Given the description of an element on the screen output the (x, y) to click on. 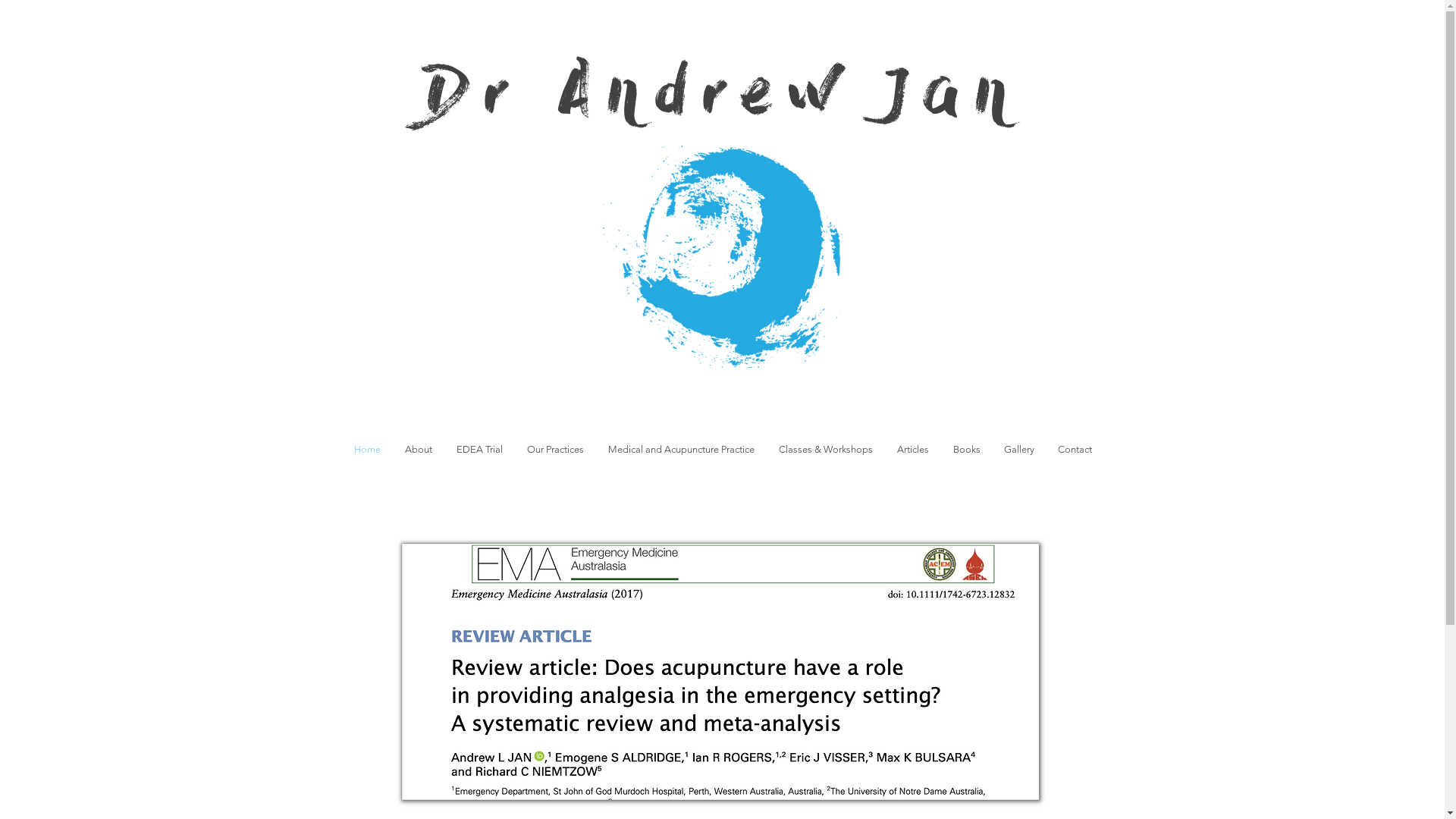
Classes & Workshops Element type: text (824, 448)
Our Practices Element type: text (554, 448)
About Element type: text (418, 448)
Gallery Element type: text (1018, 448)
Home Element type: text (366, 448)
Contact Element type: text (1075, 448)
Books Element type: text (965, 448)
Articles Element type: text (912, 448)
Medical and Acupuncture Practice Element type: text (681, 448)
EDEA Trial Element type: text (479, 448)
